Given the description of an element on the screen output the (x, y) to click on. 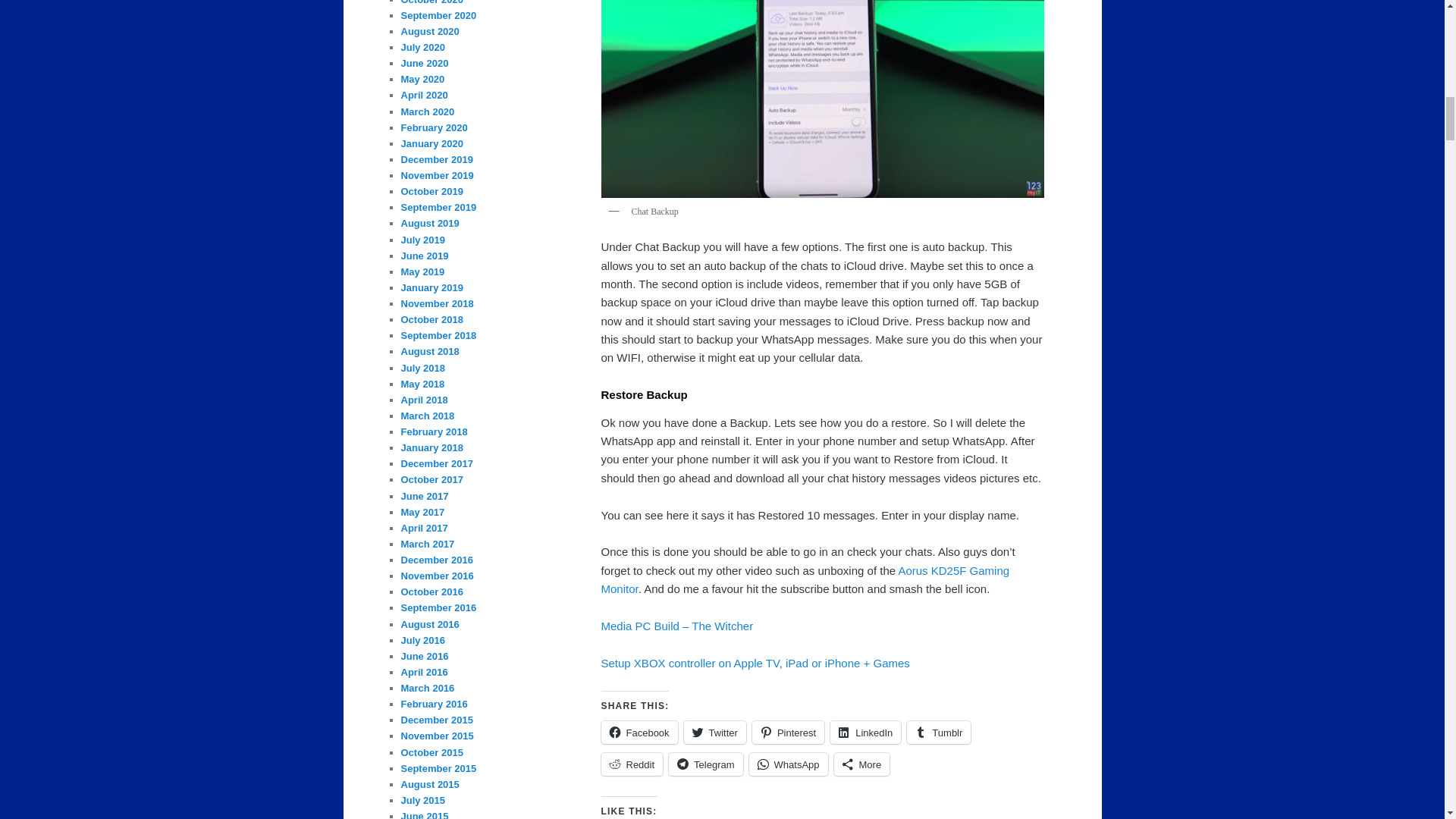
Click to share on Twitter (714, 732)
Click to share on LinkedIn (865, 732)
Click to share on Reddit (630, 763)
Click to share on Facebook (638, 732)
Click to share on Pinterest (788, 732)
Click to share on Tumblr (939, 732)
Click to share on WhatsApp (788, 763)
Click to share on Telegram (705, 763)
